Given the description of an element on the screen output the (x, y) to click on. 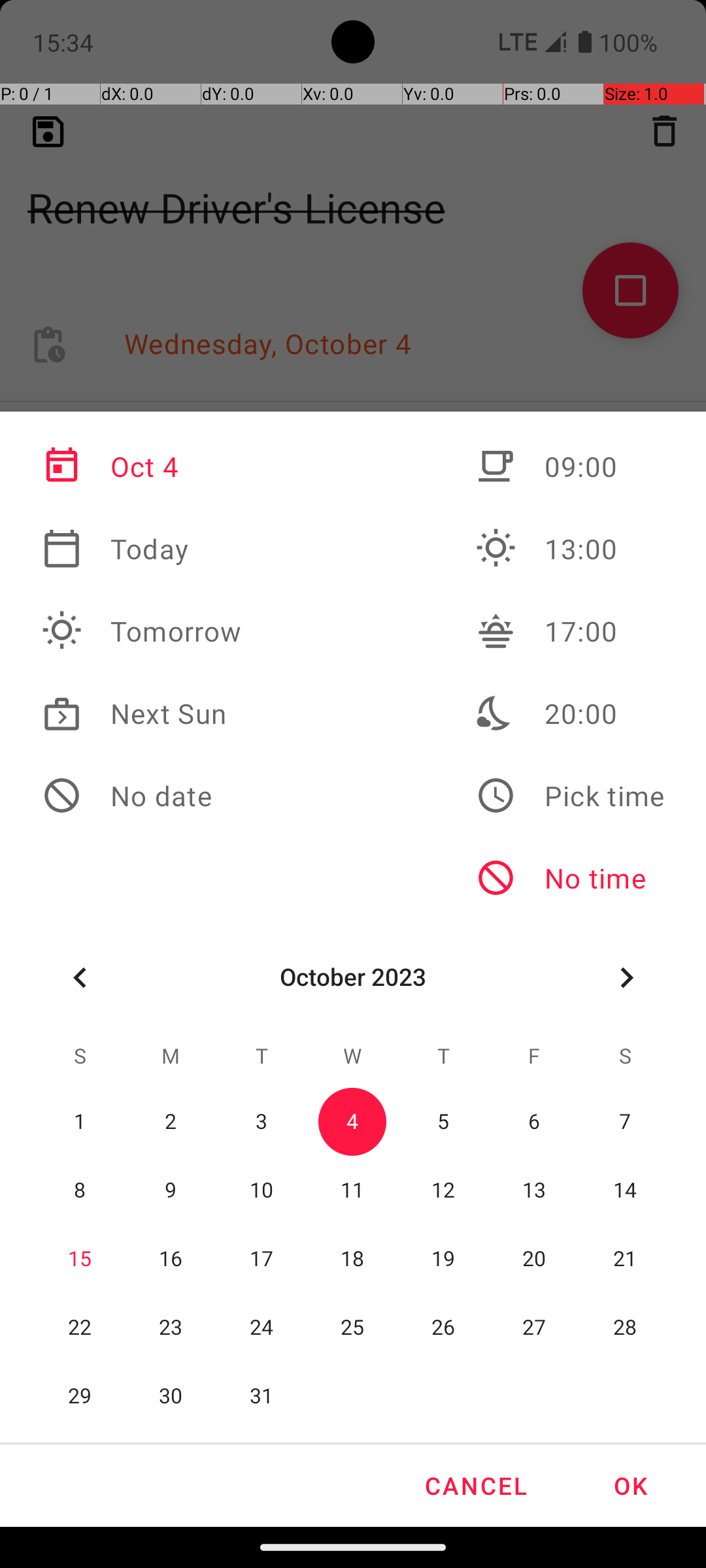
Oct 4 Element type: android.widget.CompoundButton (141, 466)
